Given the description of an element on the screen output the (x, y) to click on. 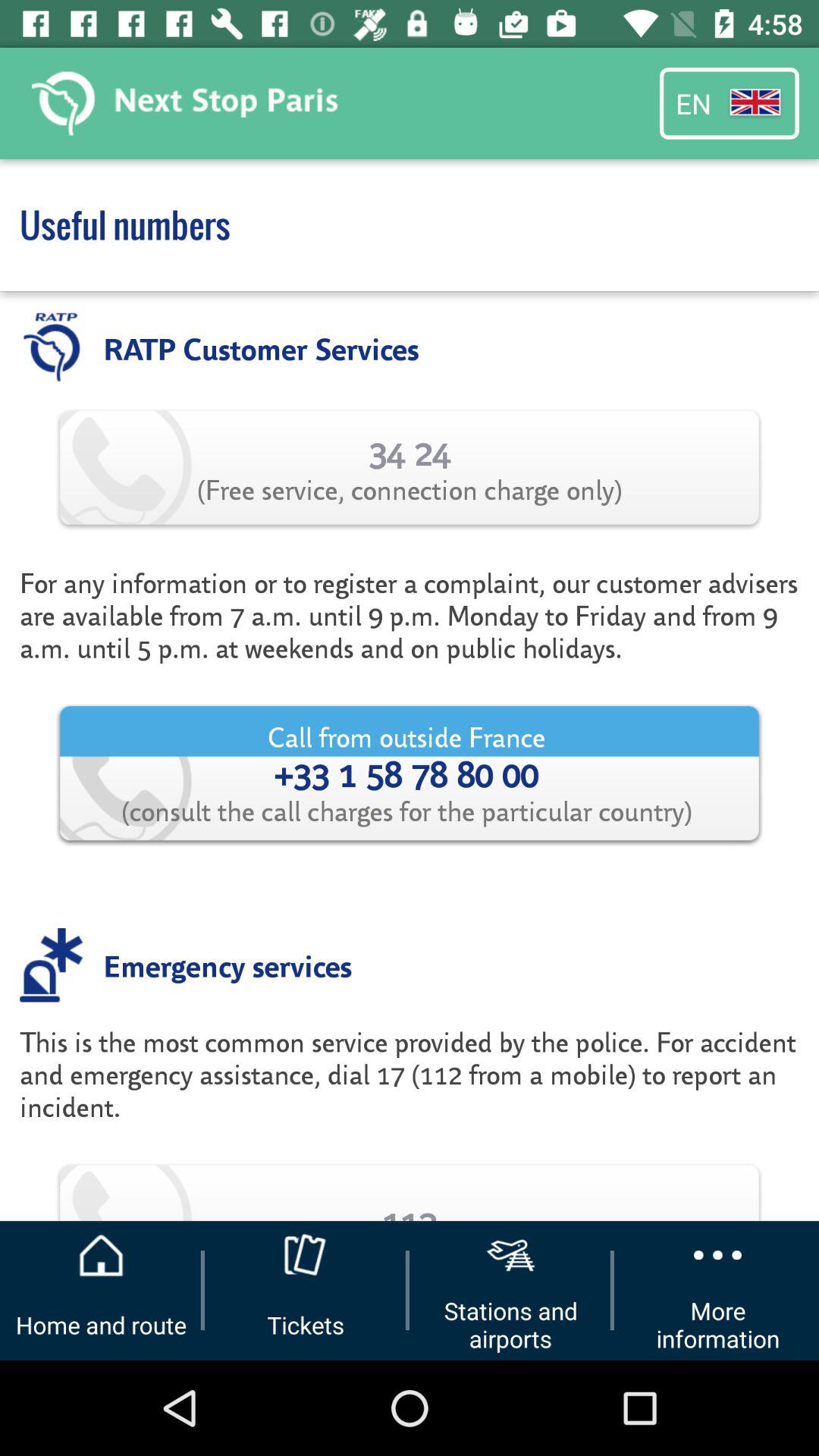
click icon above this is the icon (227, 964)
